Given the description of an element on the screen output the (x, y) to click on. 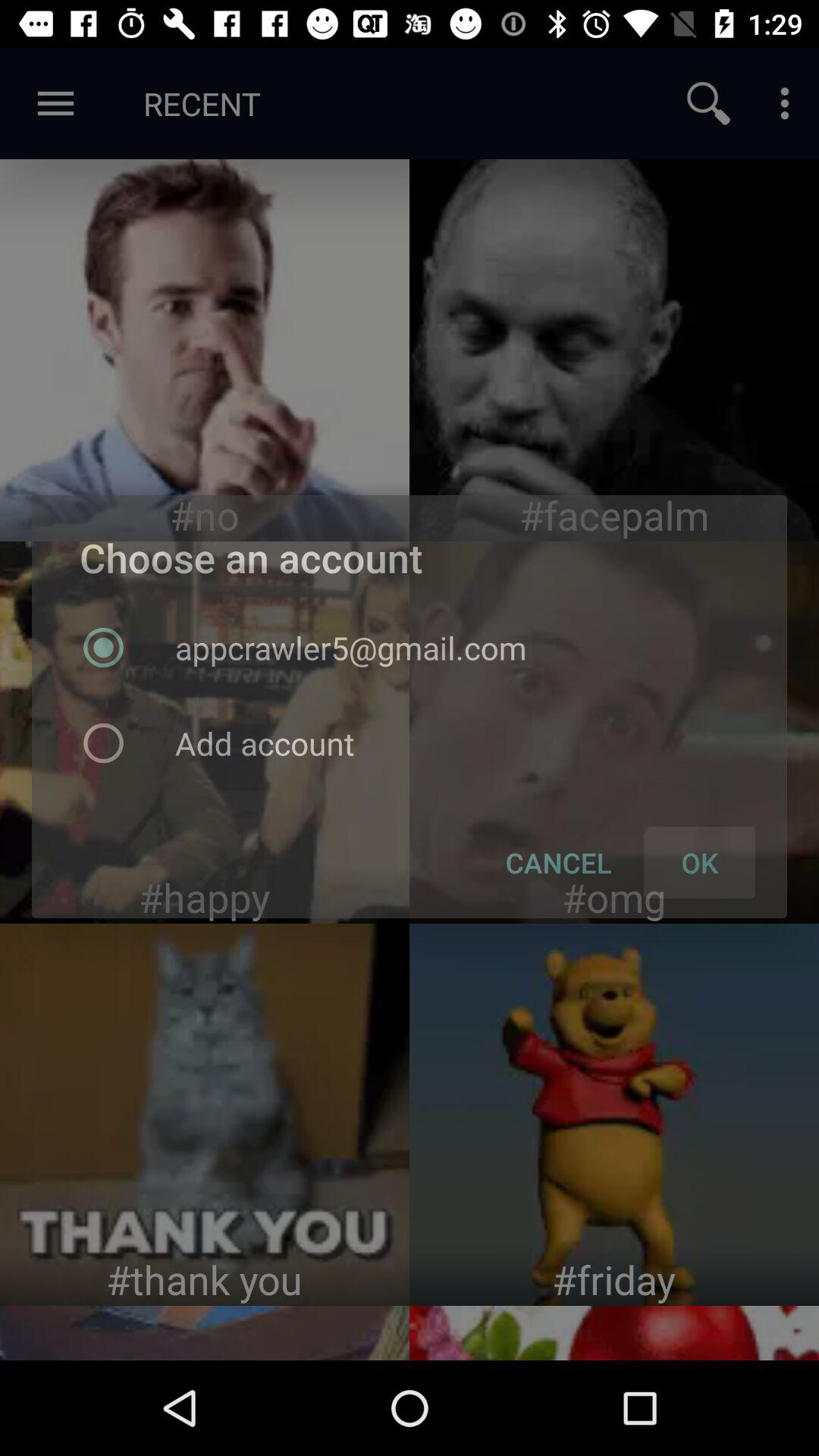
go to this screen (614, 732)
